Given the description of an element on the screen output the (x, y) to click on. 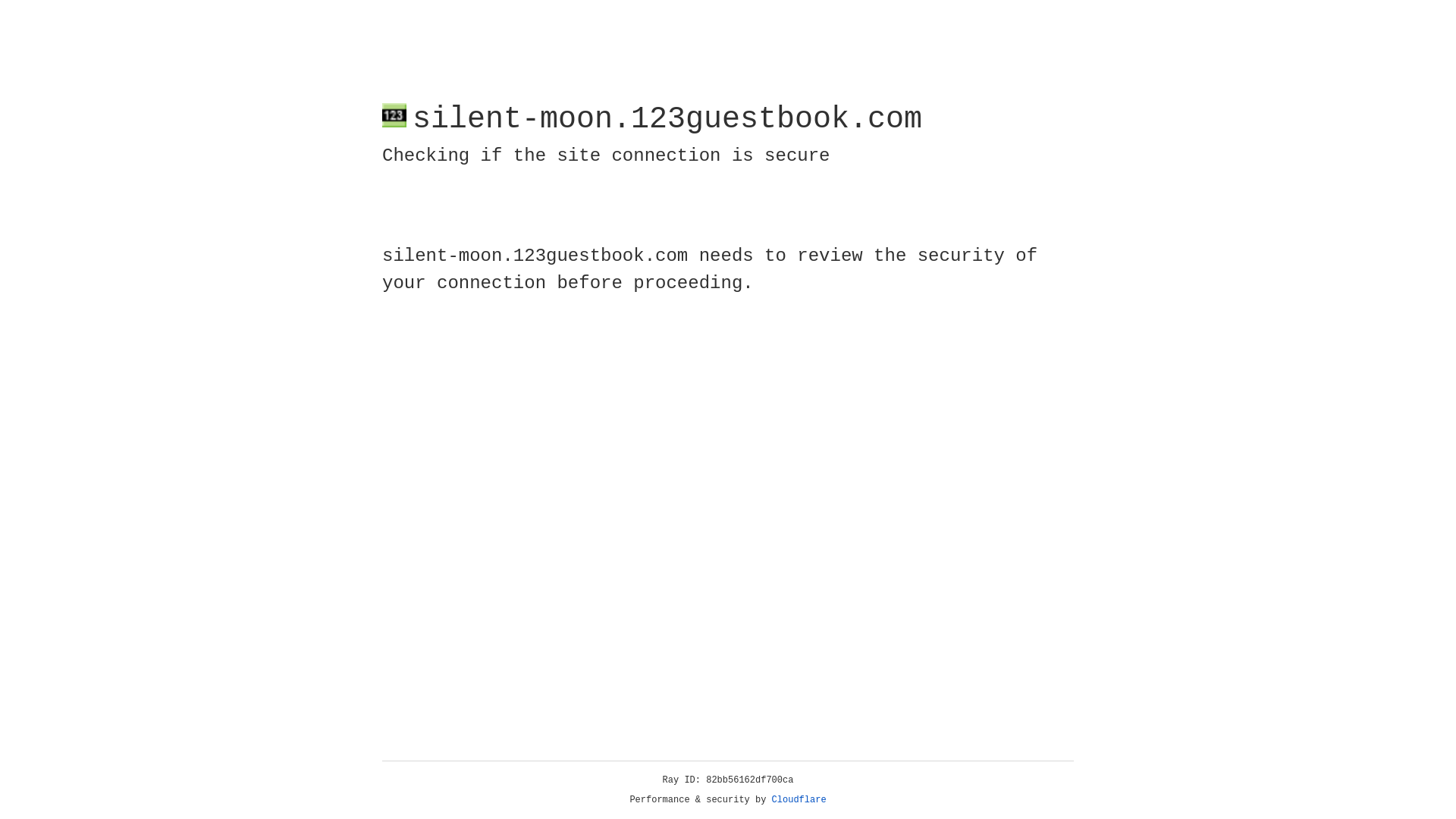
Cloudflare Element type: text (798, 799)
